Given the description of an element on the screen output the (x, y) to click on. 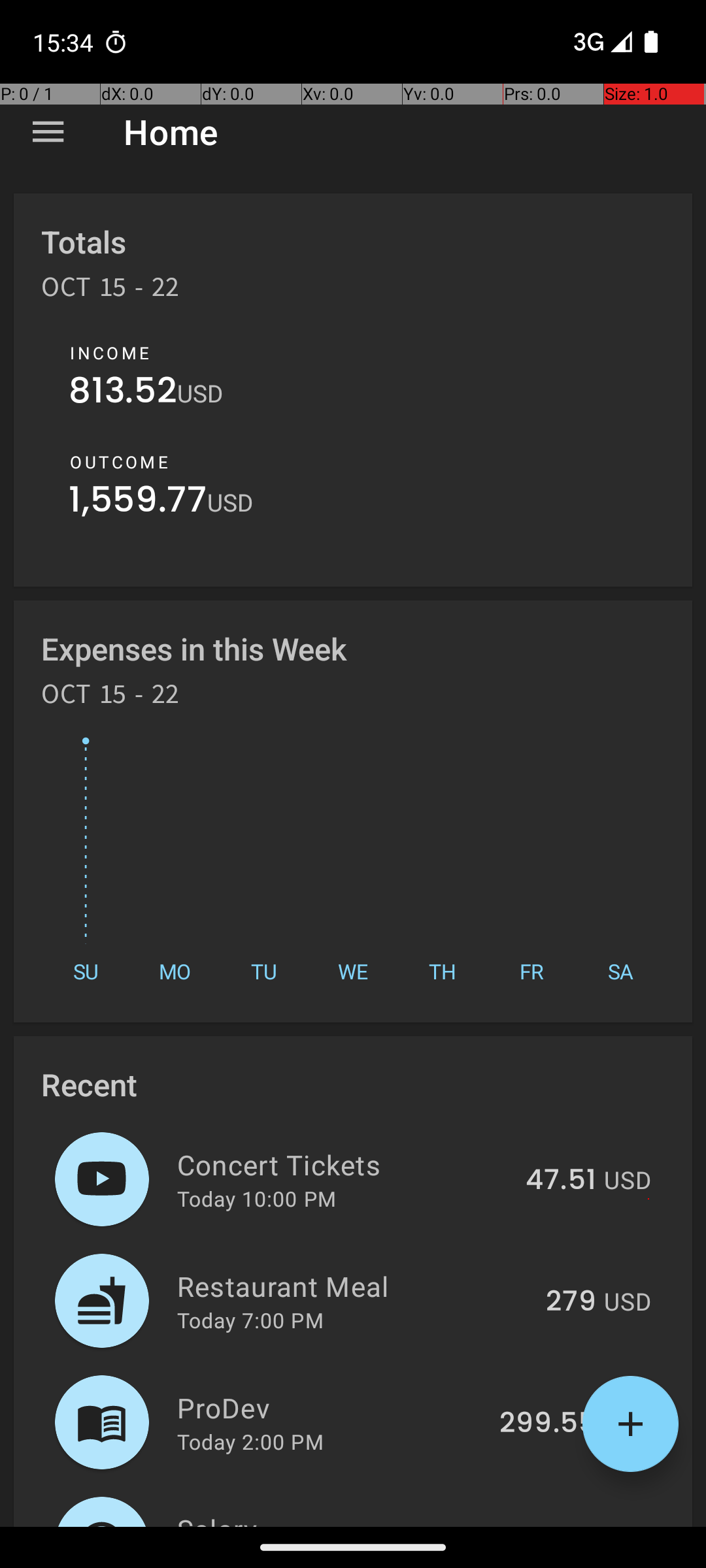
813.52 Element type: android.widget.TextView (122, 393)
1,559.77 Element type: android.widget.TextView (137, 502)
Concert Tickets Element type: android.widget.TextView (343, 1164)
47.51 Element type: android.widget.TextView (560, 1180)
Restaurant Meal Element type: android.widget.TextView (353, 1285)
279 Element type: android.widget.TextView (570, 1301)
ProDev Element type: android.widget.TextView (330, 1407)
299.55 Element type: android.widget.TextView (547, 1423)
Salary Element type: android.widget.TextView (332, 1518)
229.43 Element type: android.widget.TextView (549, 1524)
